Given the description of an element on the screen output the (x, y) to click on. 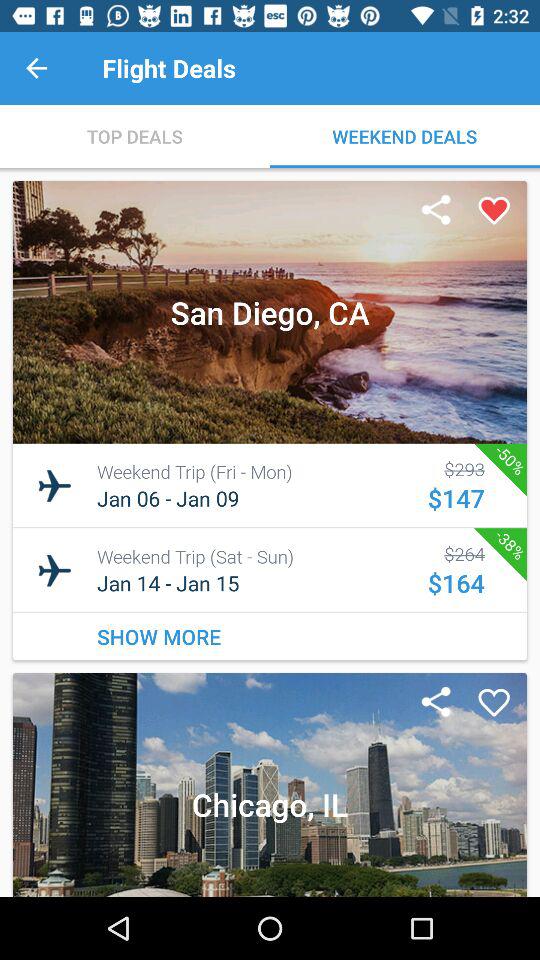
select the text show more which is above the image (269, 636)
select the favorites icon which is on the second image (495, 702)
select the first icon in the first image which is at the top right (436, 211)
select the content with san diego ca (269, 420)
